Given the description of an element on the screen output the (x, y) to click on. 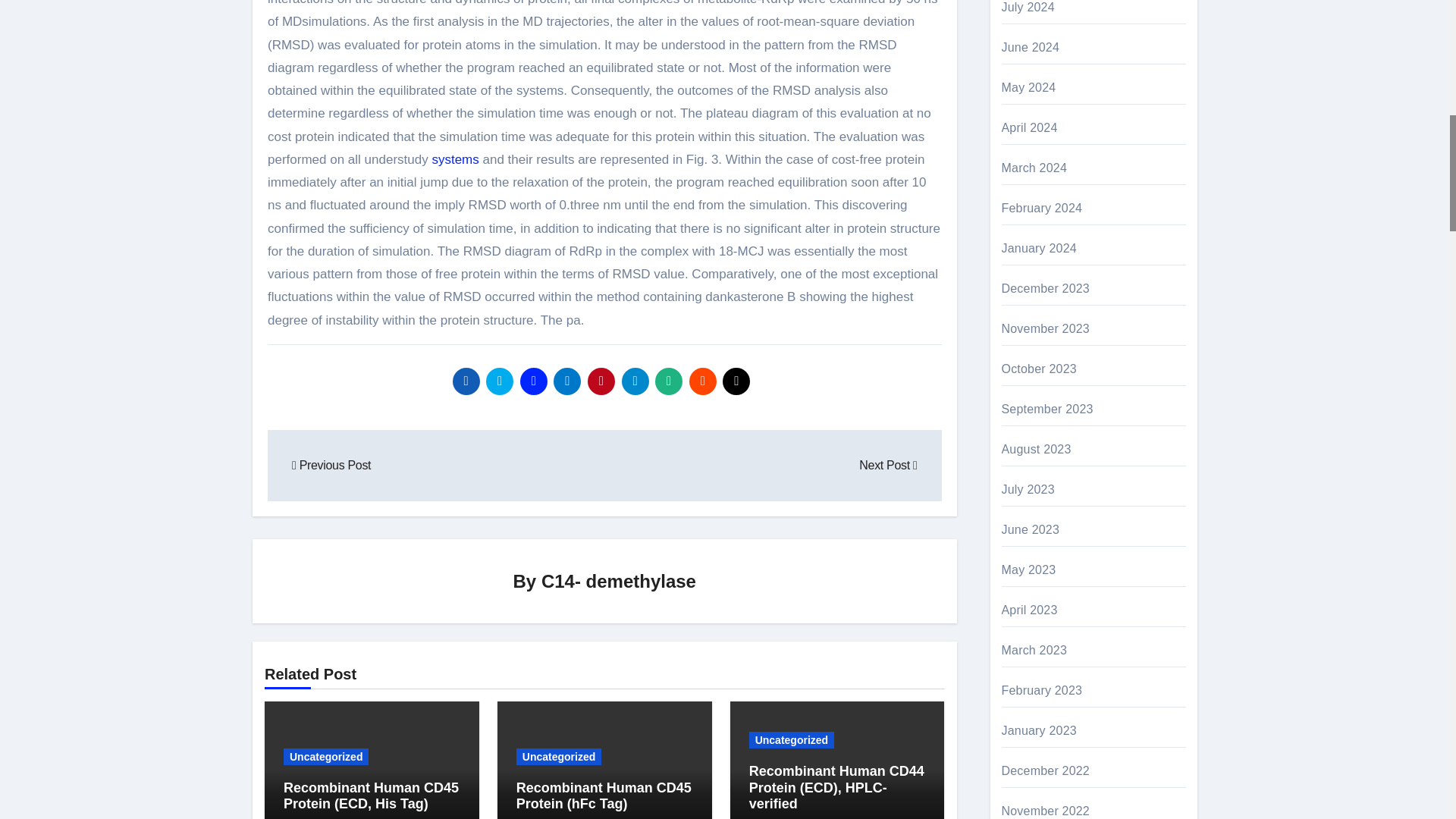
July 30, 2024 (419, 818)
C14- demethylase (618, 580)
systems (454, 159)
C14- demethylase (327, 818)
Previous Post (331, 464)
Next Post (888, 464)
Uncategorized (325, 756)
